Given the description of an element on the screen output the (x, y) to click on. 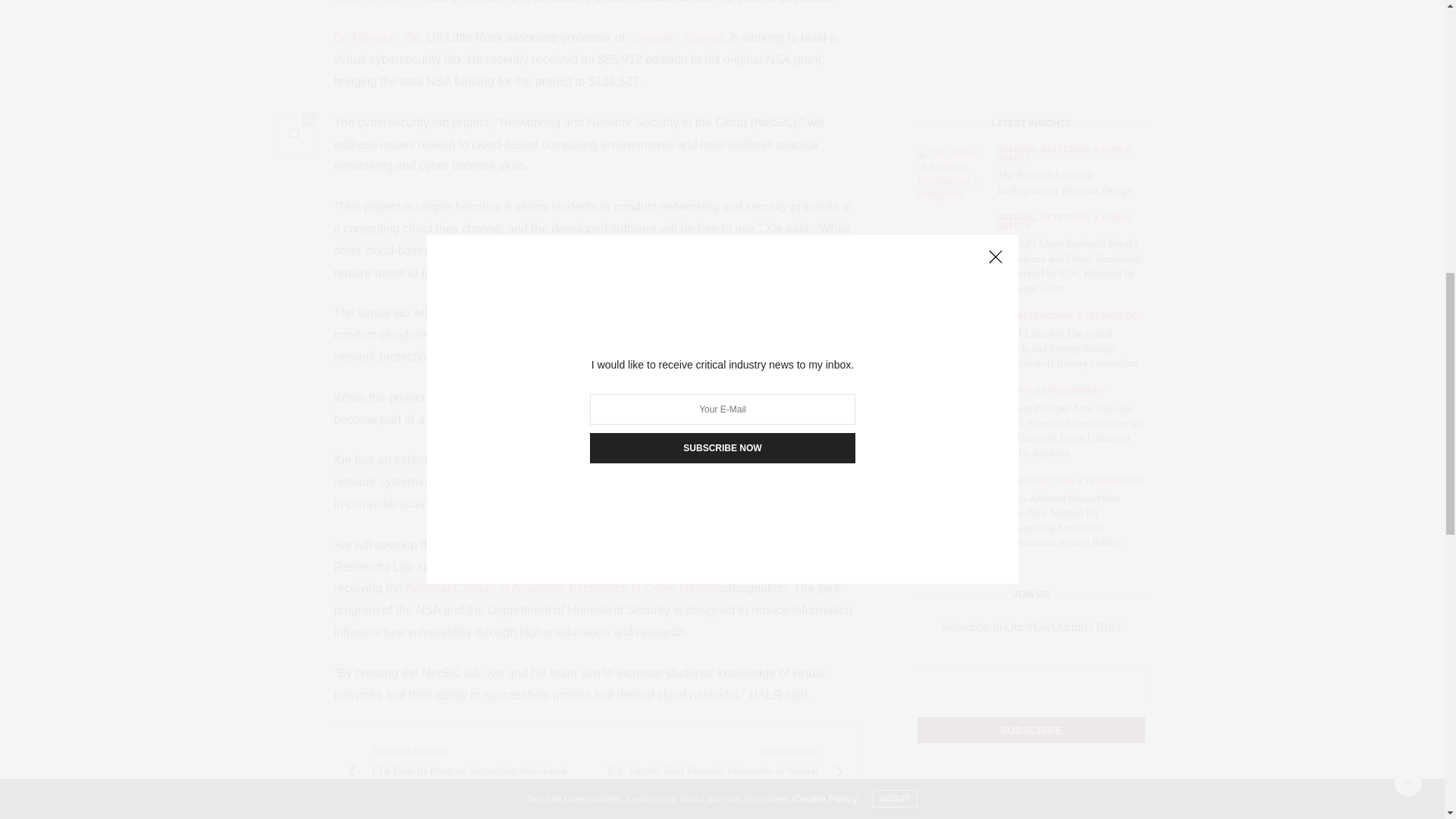
Dr. Mengjun Xie (376, 37)
computer science (675, 37)
SUBSCRIBE (1030, 118)
National Centers of Academic Excellence in Cyber Defense (565, 587)
SUBMIT (1030, 579)
notes (559, 566)
